Given the description of an element on the screen output the (x, y) to click on. 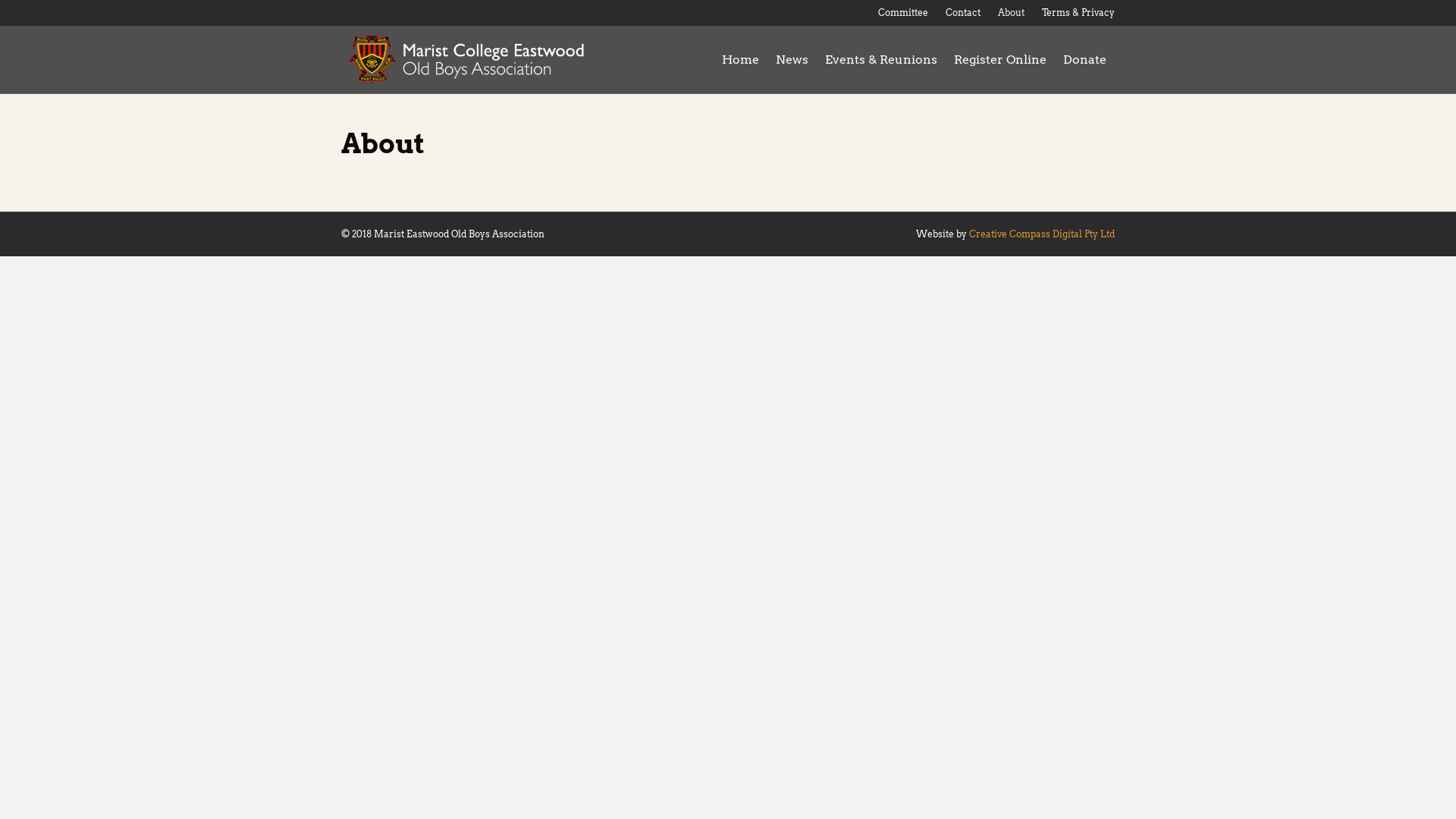
Home Element type: text (740, 59)
Creative Compass Digital Pty Ltd Element type: text (1041, 233)
Contact Element type: text (963, 12)
Register Online Element type: text (999, 59)
Events & Reunions Element type: text (880, 59)
News Element type: text (791, 59)
Terms & Privacy Element type: text (1078, 12)
Donate Element type: text (1084, 59)
Committee Element type: text (902, 12)
About Element type: text (1011, 12)
